Given the description of an element on the screen output the (x, y) to click on. 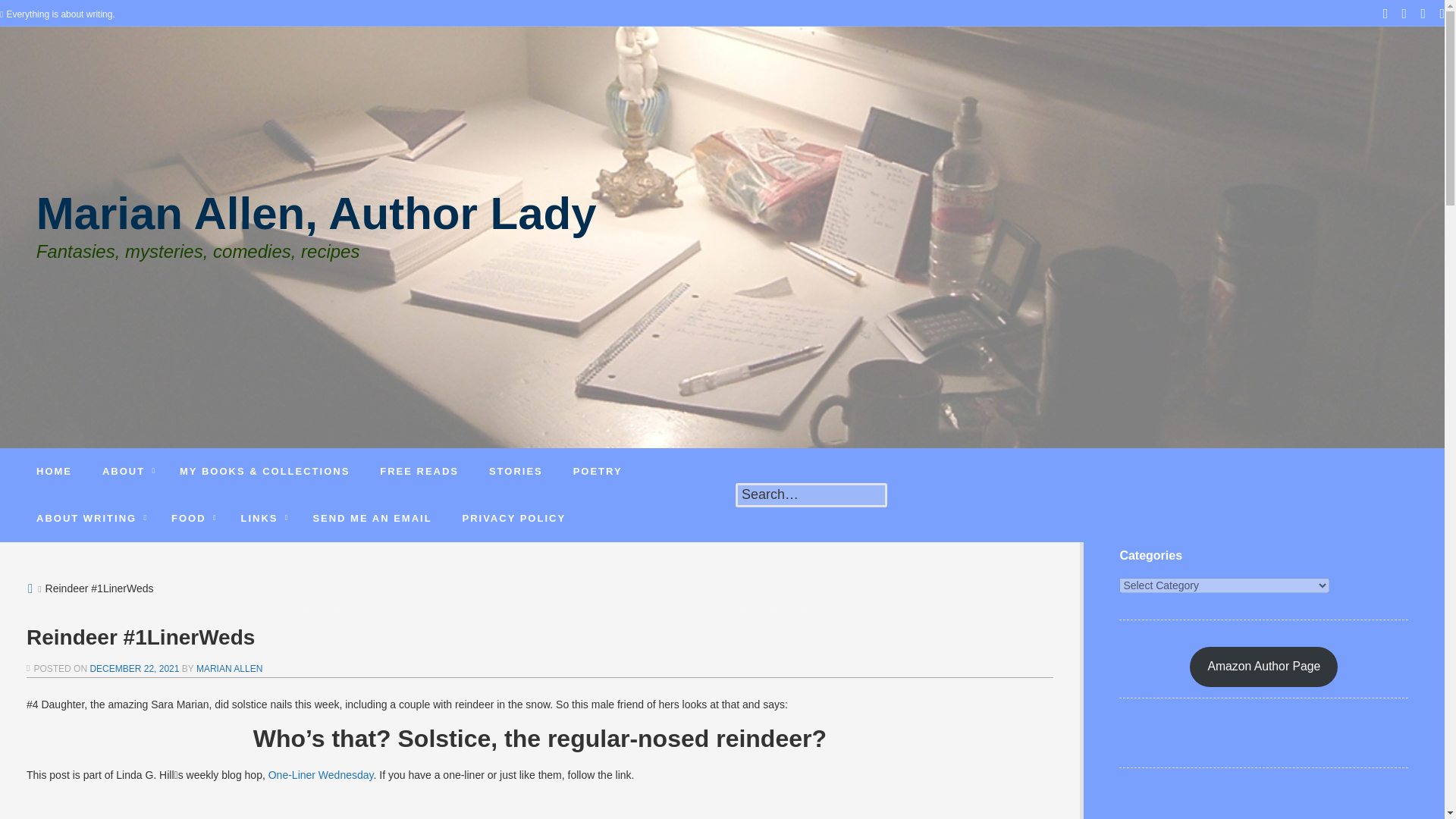
Marian Allen, Author Lady (316, 224)
7:00 am (133, 668)
ABOUT (125, 471)
HOME (54, 471)
View all posts by Marian Allen (229, 668)
